Given the description of an element on the screen output the (x, y) to click on. 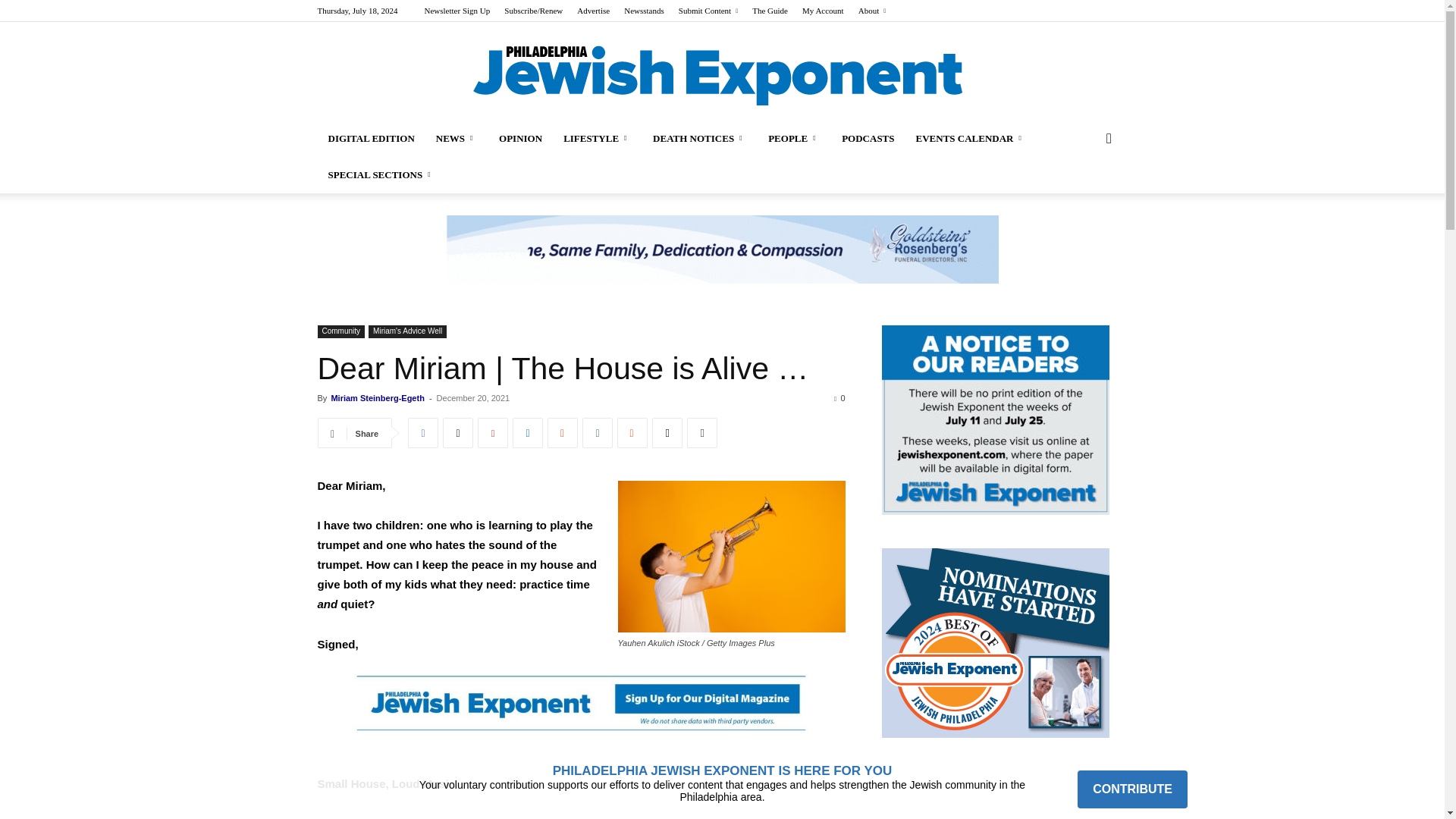
Tumblr (597, 432)
ReddIt (562, 432)
Facebook (422, 432)
Print (702, 432)
Twitter (457, 432)
Mix (632, 432)
Linkedin (527, 432)
Newsletter Sign Up (456, 10)
Pinterest (492, 432)
Email (667, 432)
